Given the description of an element on the screen output the (x, y) to click on. 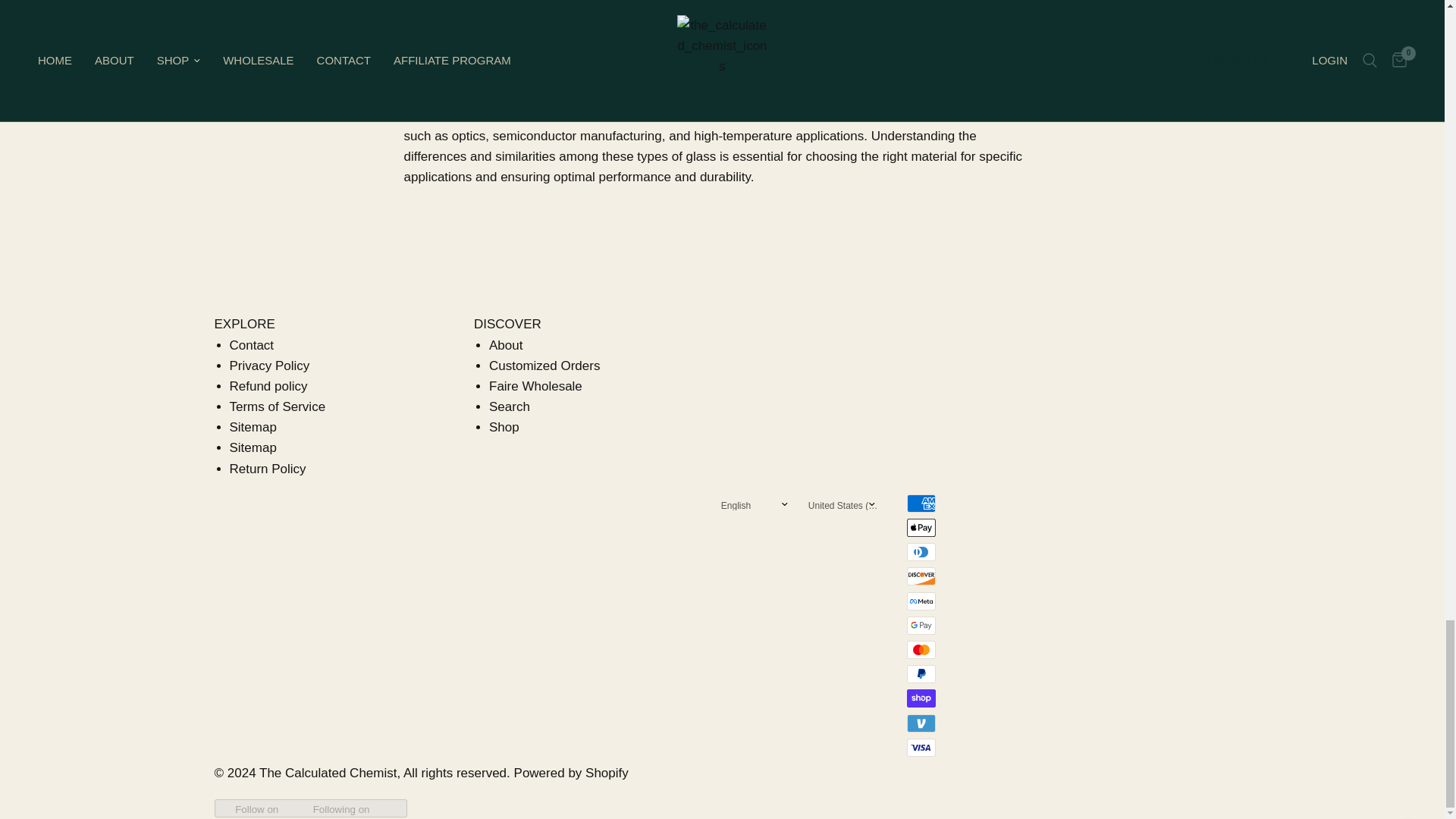
Refund policy (267, 386)
Privacy Policy (268, 365)
Shop Pay (921, 698)
Sitemap (252, 447)
Meta Pay (921, 601)
Contact  (250, 345)
Terms of Service (276, 406)
About (505, 345)
Venmo (921, 723)
Apple Pay (921, 527)
